Given the description of an element on the screen output the (x, y) to click on. 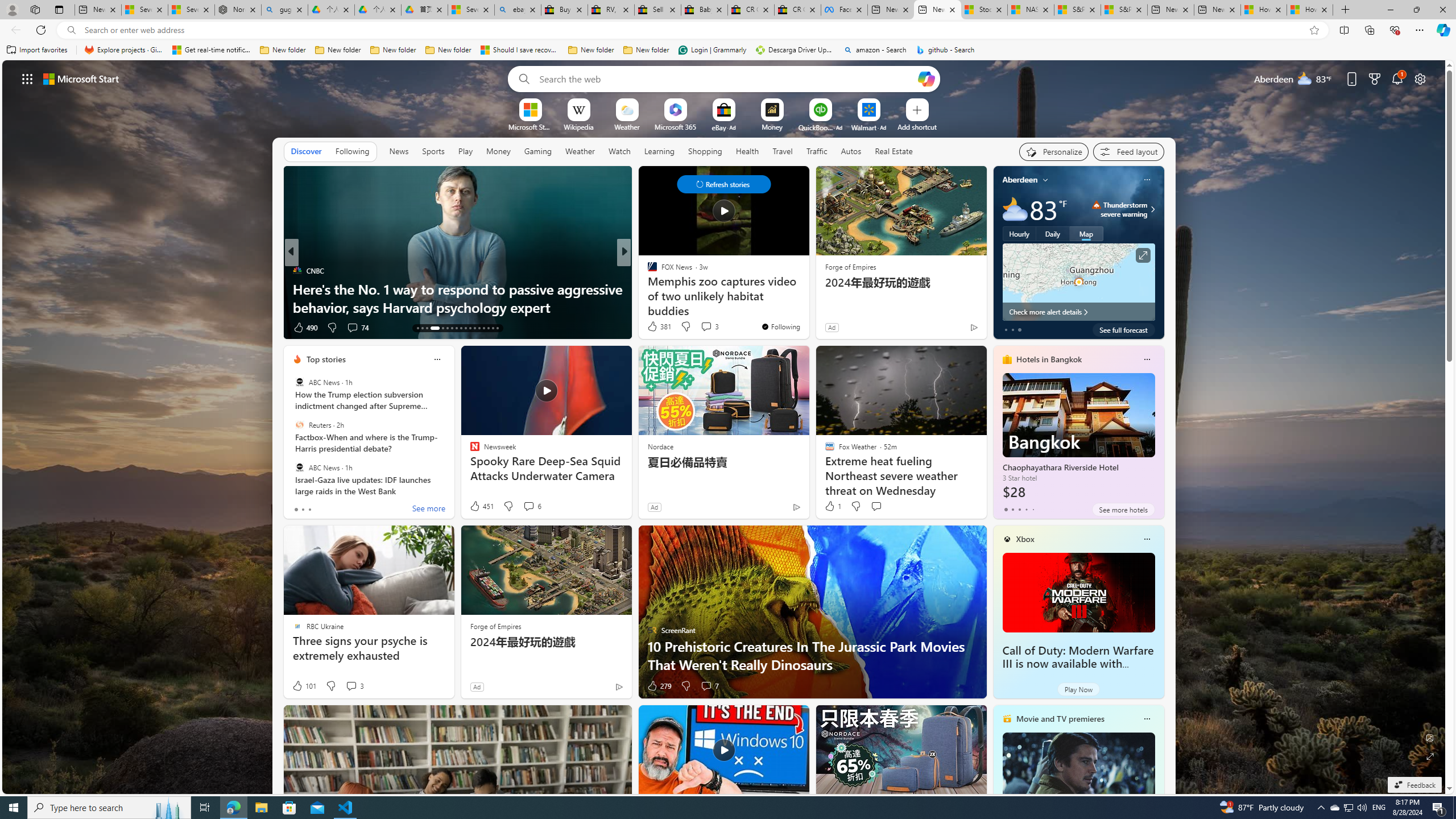
Login | Grammarly (712, 49)
Money (497, 151)
AutomationID: tab-23 (470, 328)
The 9 Biggest Sharks in the Atlantic Ocean (807, 307)
Forge of Empires (495, 625)
How to Start Strength Training If You've Never Done It (807, 298)
Facebook (844, 9)
hotels-header-icon (1006, 358)
AZ Animals (US) (647, 288)
Aberdeen (1019, 179)
